Given the description of an element on the screen output the (x, y) to click on. 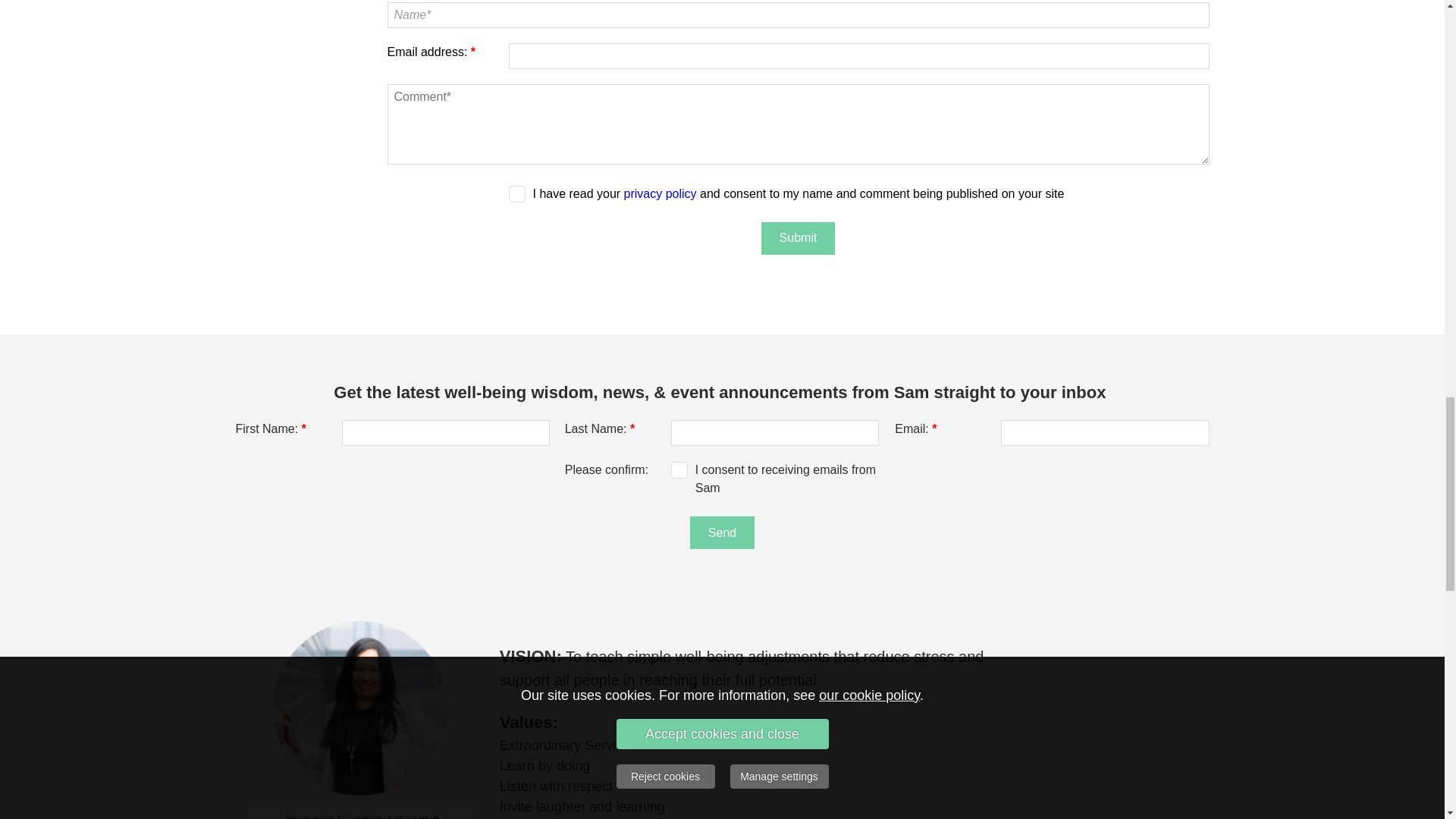
privacy policy (660, 193)
Send (722, 532)
Submit (798, 238)
